Given the description of an element on the screen output the (x, y) to click on. 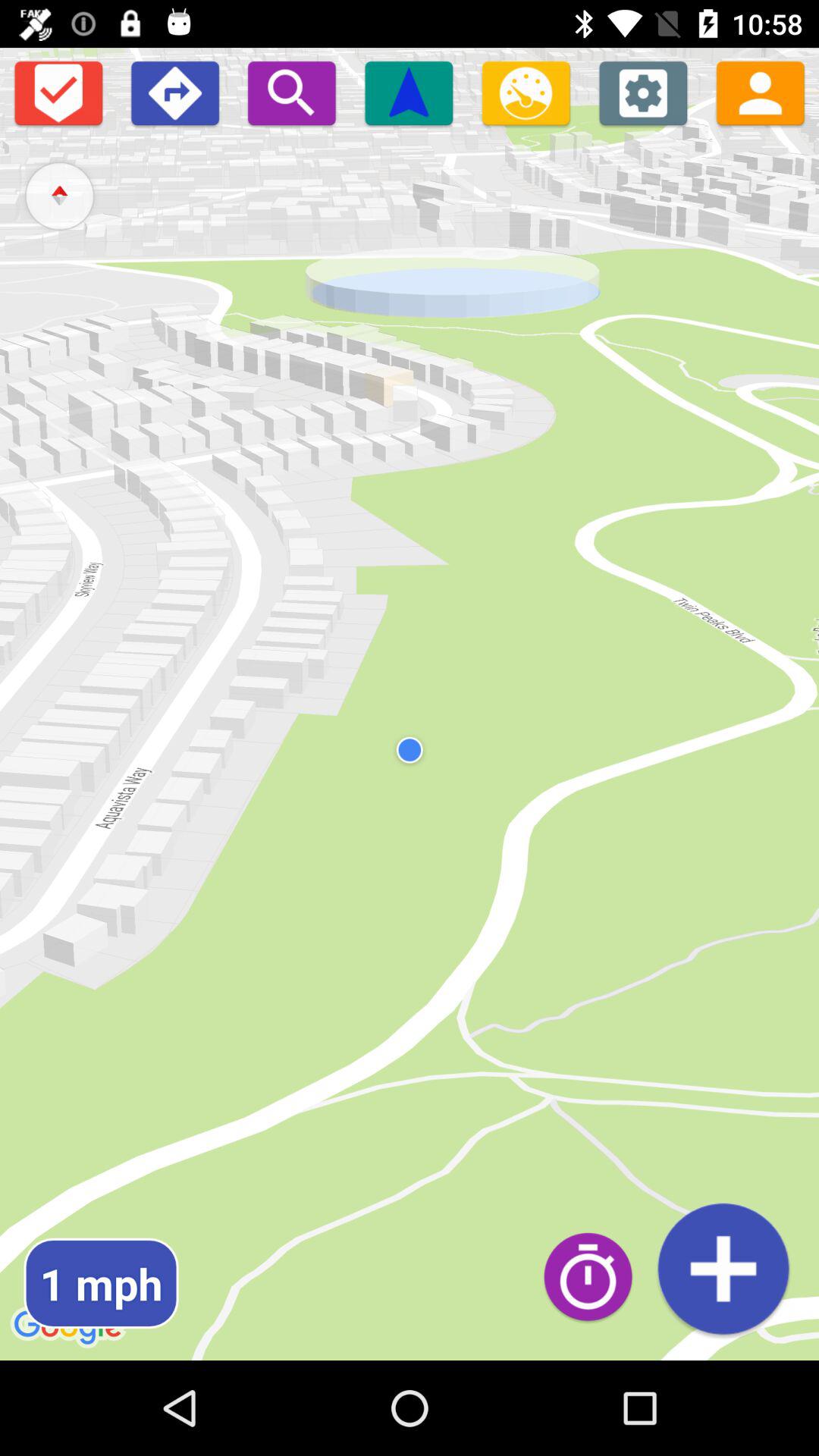
profile (760, 92)
